Given the description of an element on the screen output the (x, y) to click on. 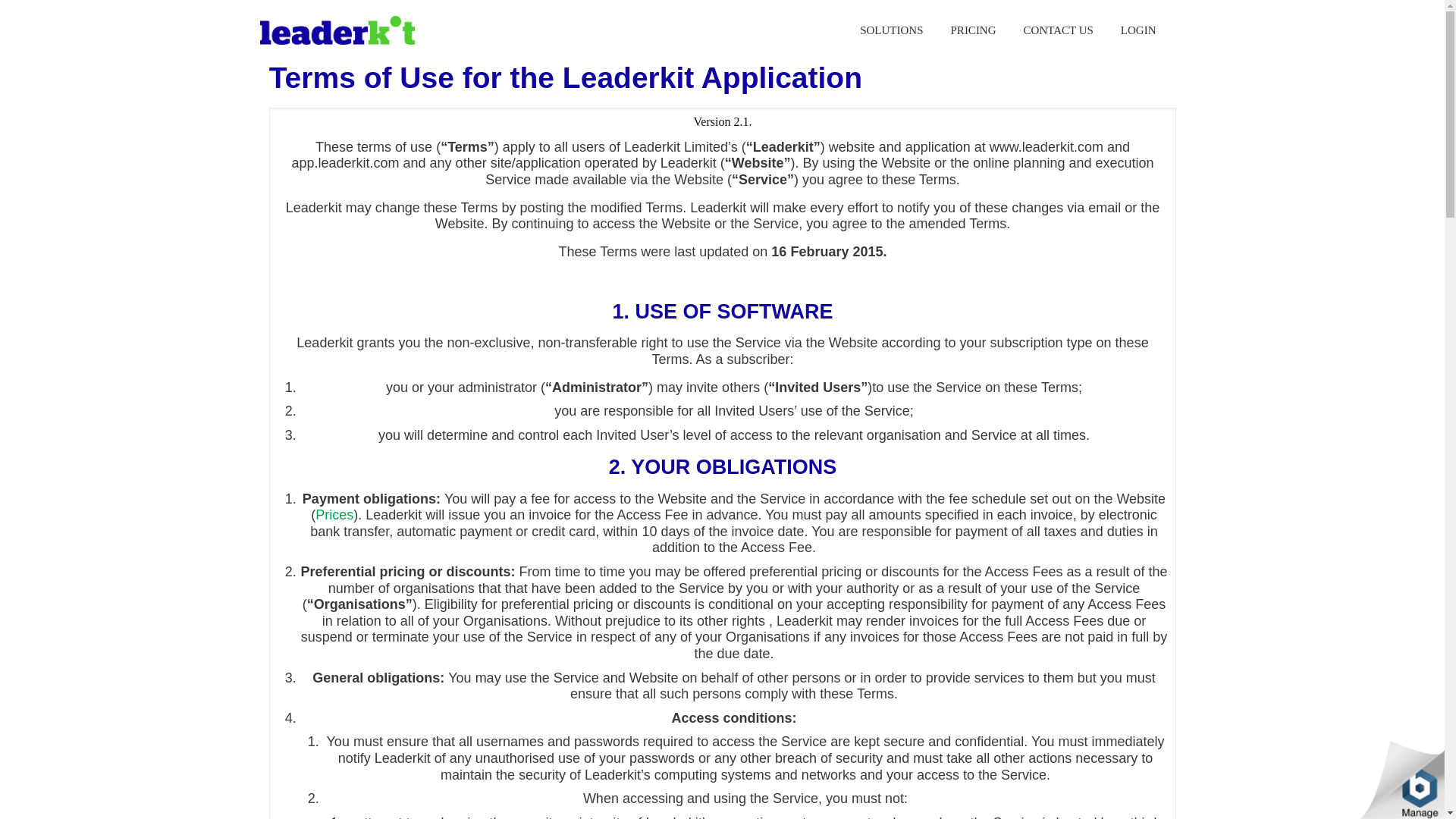
SOLUTIONS (890, 30)
Prices (334, 514)
PRICING (973, 30)
LOGIN (1138, 30)
CONTACT US (1058, 30)
